Given the description of an element on the screen output the (x, y) to click on. 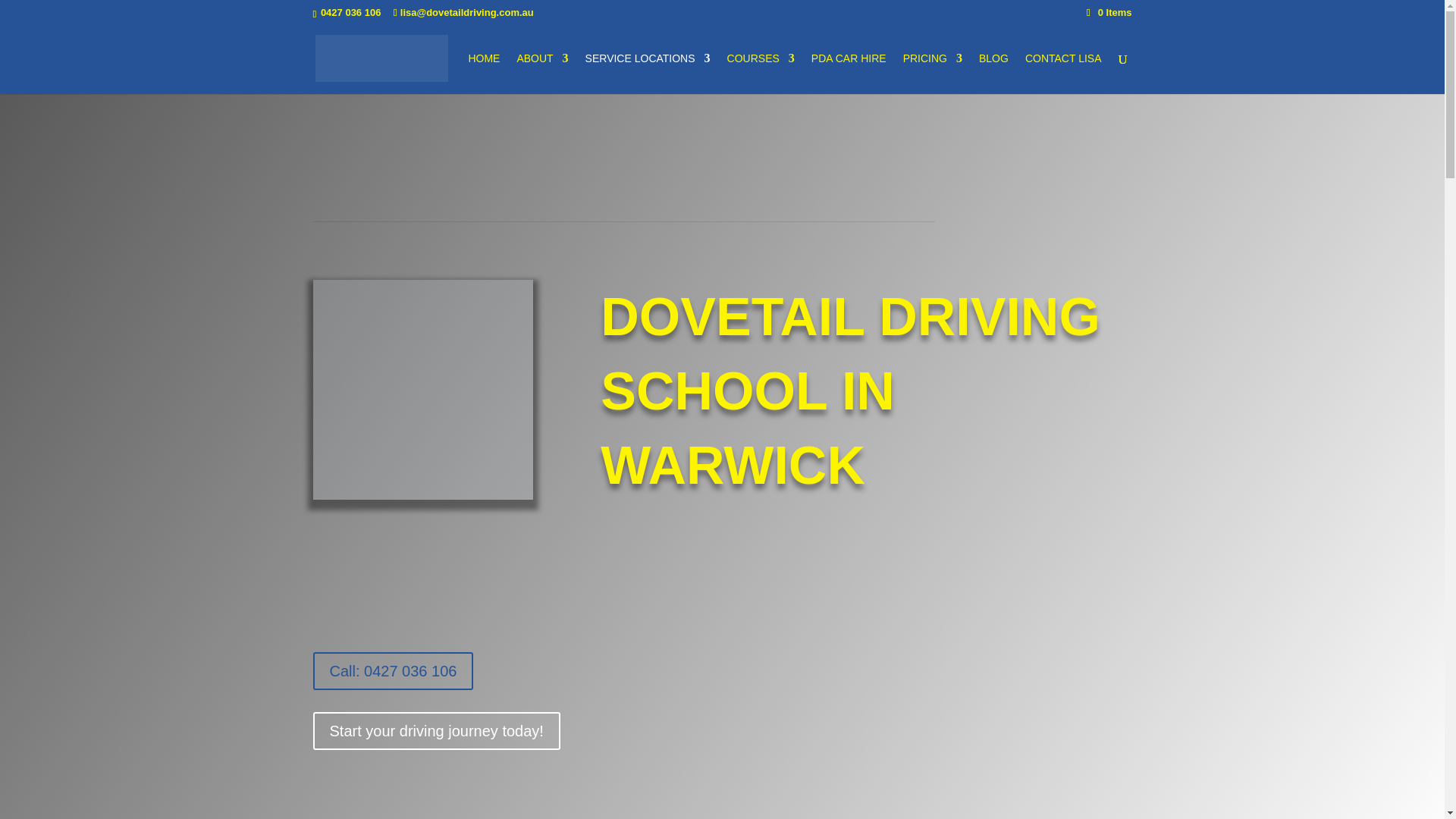
PDA CAR HIRE (848, 73)
0 Items (1109, 12)
PRICING (932, 73)
COURSES (760, 73)
ABOUT (541, 73)
SERVICE LOCATIONS (647, 73)
0427 036 106 (350, 12)
